Given the description of an element on the screen output the (x, y) to click on. 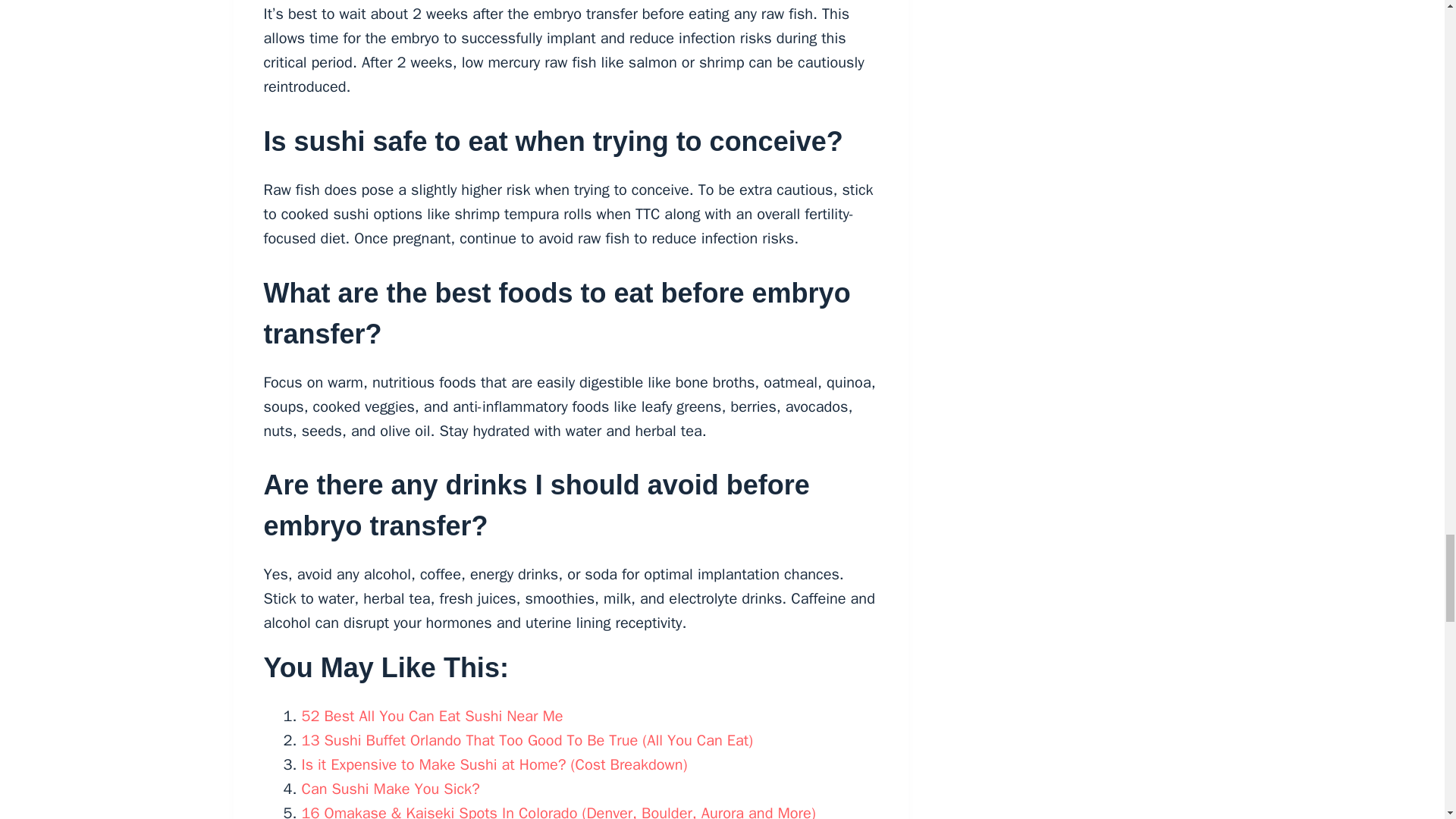
52 Best All You Can Eat Sushi Near Me (432, 715)
Can Sushi Make You Sick? (390, 788)
52 Best All You Can Eat Sushi Near Me (432, 715)
Can Sushi Make You Sick? (390, 788)
